Given the description of an element on the screen output the (x, y) to click on. 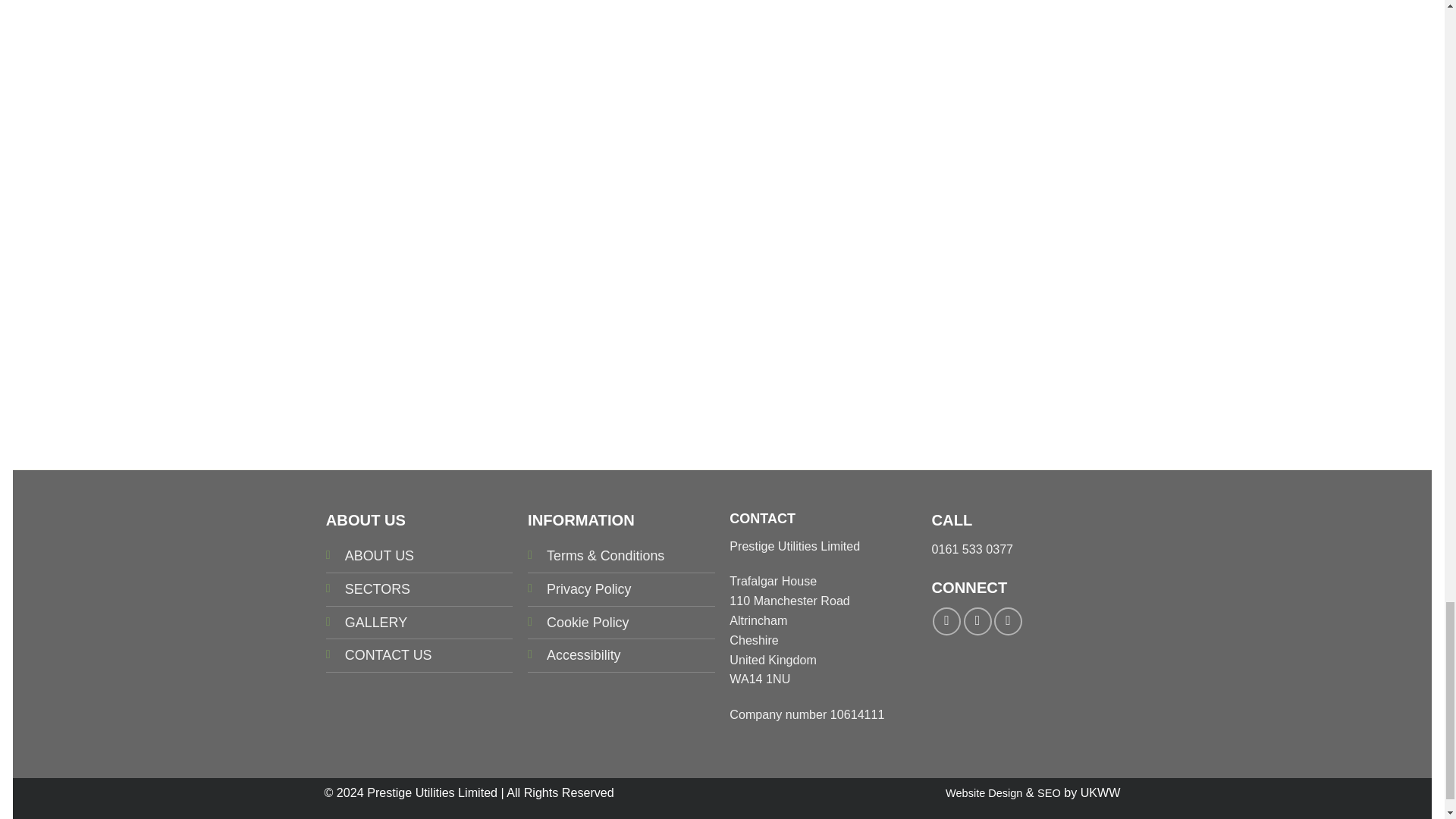
Cookie Policy (587, 622)
Follow on LinkedIn (1008, 621)
Accessibility (584, 654)
Follow on Facebook (946, 621)
Follow on Instagram (977, 621)
Privacy Policy (588, 589)
SECTORS (377, 589)
CONTACT US (388, 654)
GALLERY (376, 622)
ABOUT US (379, 555)
